Given the description of an element on the screen output the (x, y) to click on. 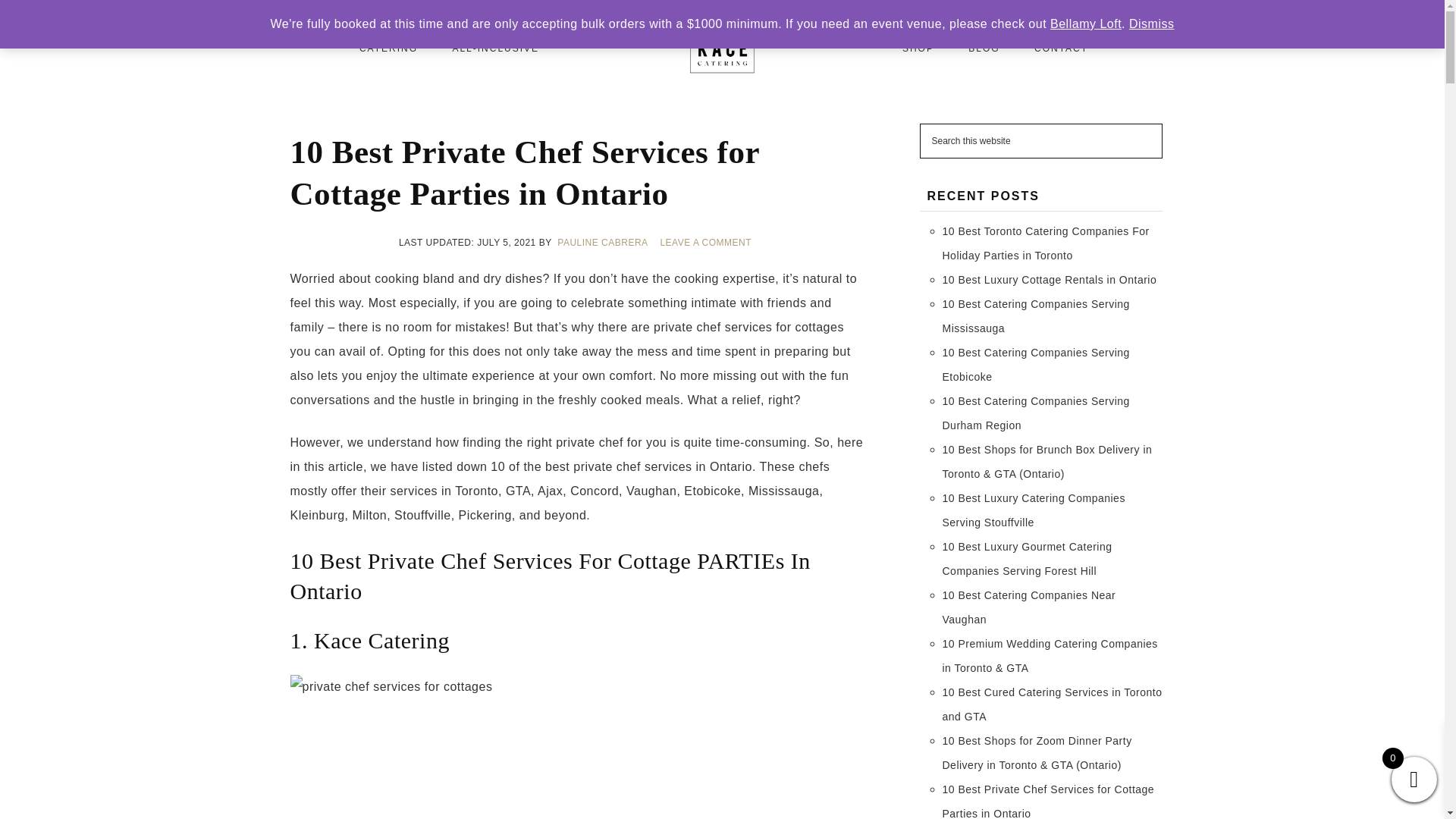
10 Best Catering Companies Serving Mississauga (1035, 316)
ALL-INCLUSIVE (495, 48)
LEAVE A COMMENT (706, 242)
KACE CATERING (721, 48)
CATERING (387, 48)
CONTACT (1061, 48)
10 Best Luxury Cottage Rentals in Ontario (1049, 279)
PAULINE CABRERA (603, 242)
BLOG (983, 48)
SHOP (917, 48)
